Given the description of an element on the screen output the (x, y) to click on. 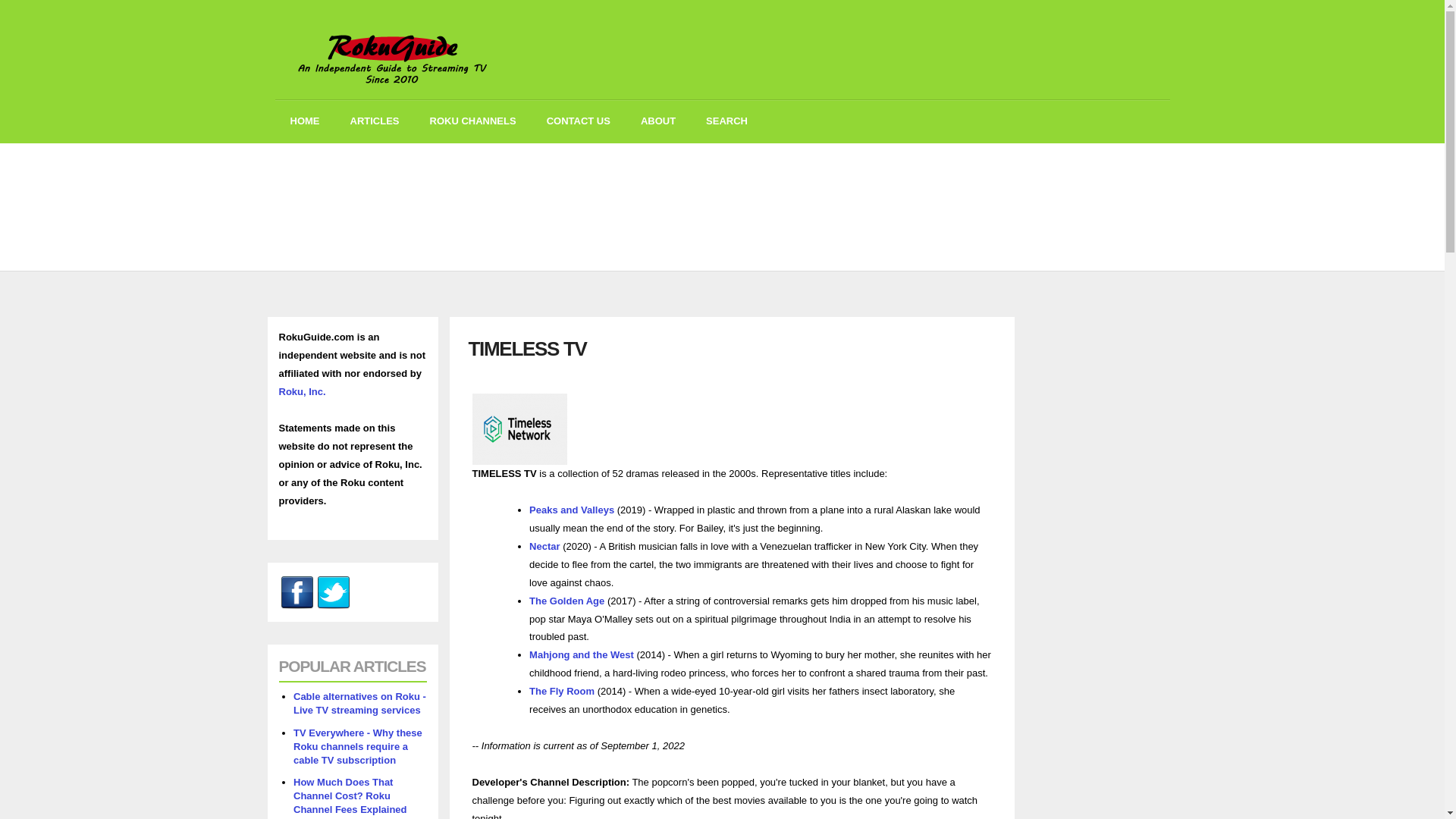
Mahjong and the West (581, 654)
Nectar (544, 546)
Peaks and Valleys (571, 509)
ABOUT (658, 121)
Roku Guide articles, reviews, updates and recommendations (374, 121)
How Much Does That Channel Cost? Roku Channel Fees Explained (350, 795)
The Fly Room (561, 690)
HOME (304, 121)
Skip to main content (677, 1)
The Golden Age (566, 600)
